Given the description of an element on the screen output the (x, y) to click on. 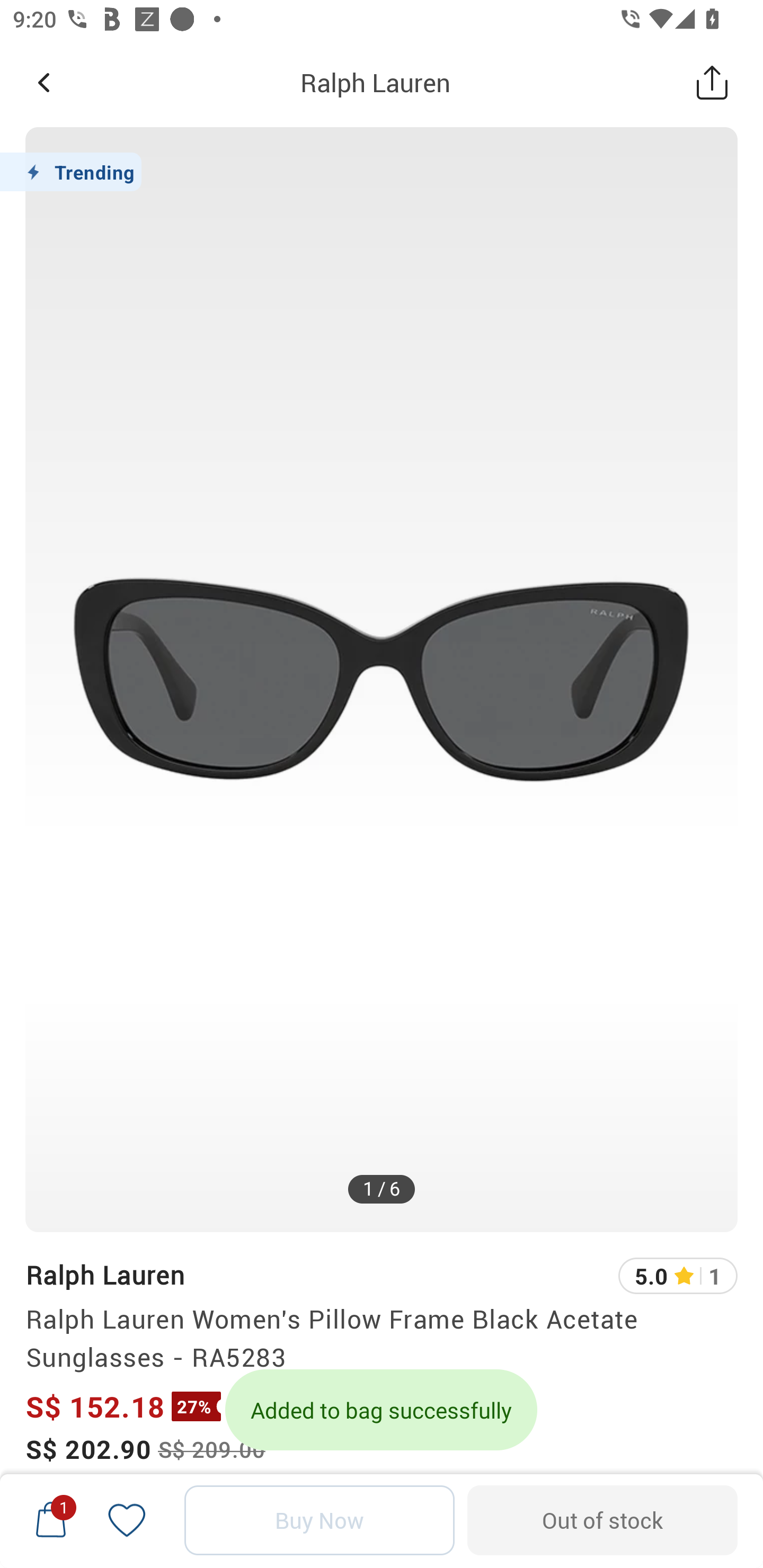
Ralph Lauren (375, 82)
Share this Product (711, 82)
Ralph Lauren (104, 1274)
5.0 1 (677, 1275)
Buy Now (319, 1519)
Out of stock (601, 1519)
1 (50, 1520)
